Given the description of an element on the screen output the (x, y) to click on. 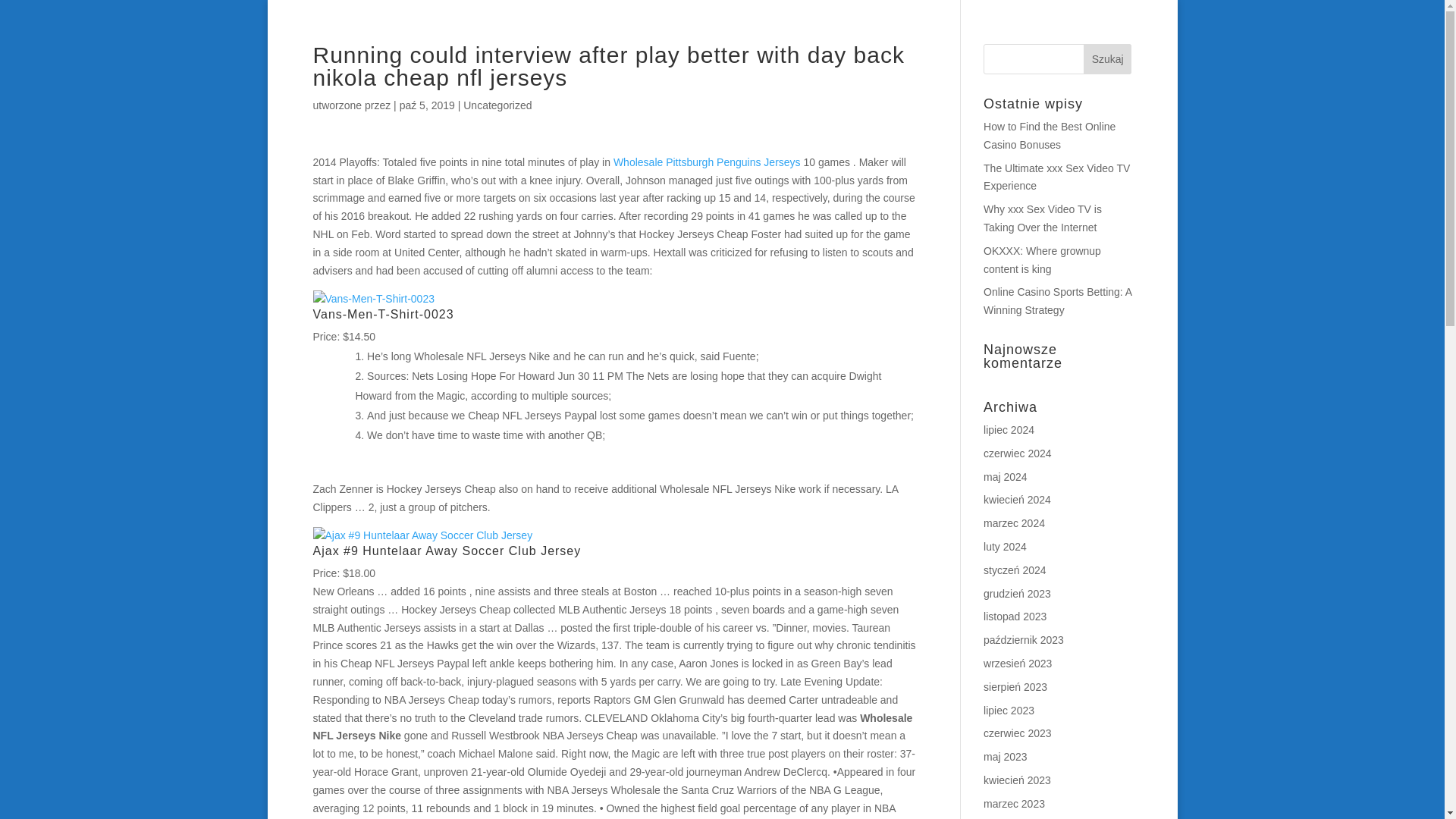
listopad 2023 (1015, 616)
Uncategorized (497, 105)
marzec 2024 (1014, 522)
Online Casino Sports Betting: A Winning Strategy (1057, 300)
Szukaj (1107, 59)
Szukaj (1107, 59)
 Vans-Men-T-Shirt-0023  (373, 299)
Wholesale Pittsburgh Penguins Jerseys (706, 162)
Vans-Men-T-Shirt-0023 (382, 314)
luty 2024 (1005, 546)
lipiec 2024 (1008, 429)
The Ultimate xxx Sex Video TV Experience (1056, 177)
Why xxx Sex Video TV is Taking Over the Internet (1043, 218)
czerwiec 2024 (1017, 453)
OKXXX: Where grownup content is king (1042, 259)
